Given the description of an element on the screen output the (x, y) to click on. 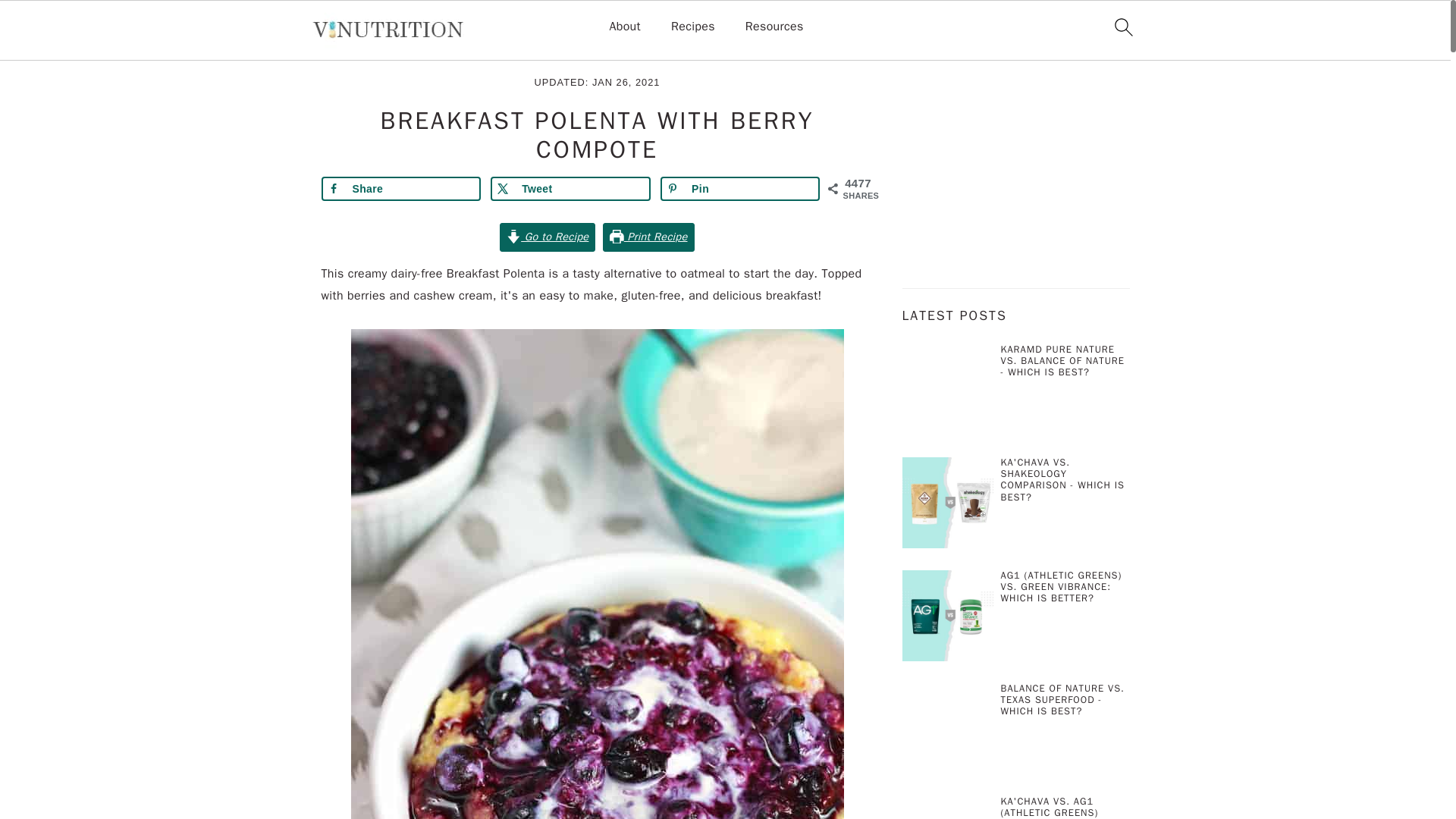
Share on X (570, 188)
search icon (1122, 26)
Ka'Chava Vs. Shakeology Comparison - Which Is Best? (947, 505)
Recipes (692, 26)
Recipes (388, 50)
Save to Pinterest (741, 188)
Share on Facebook (401, 188)
About (624, 26)
Pin (741, 188)
